Given the description of an element on the screen output the (x, y) to click on. 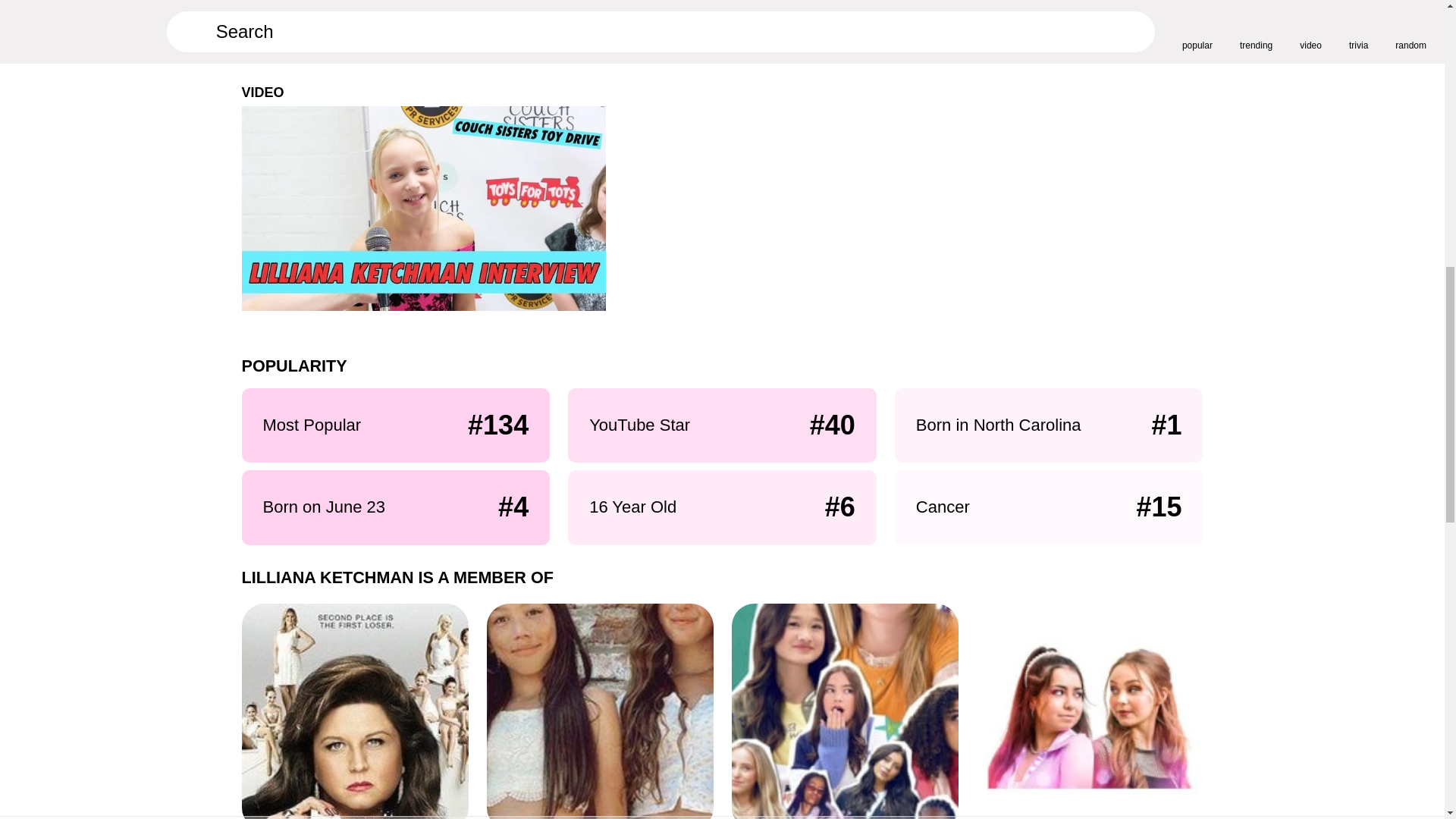
Elliana Walmsley (549, 51)
Classroom Confidential (844, 711)
Vibe Crew (599, 711)
Dance Moms (354, 711)
Dance Rivals (1090, 711)
